Given the description of an element on the screen output the (x, y) to click on. 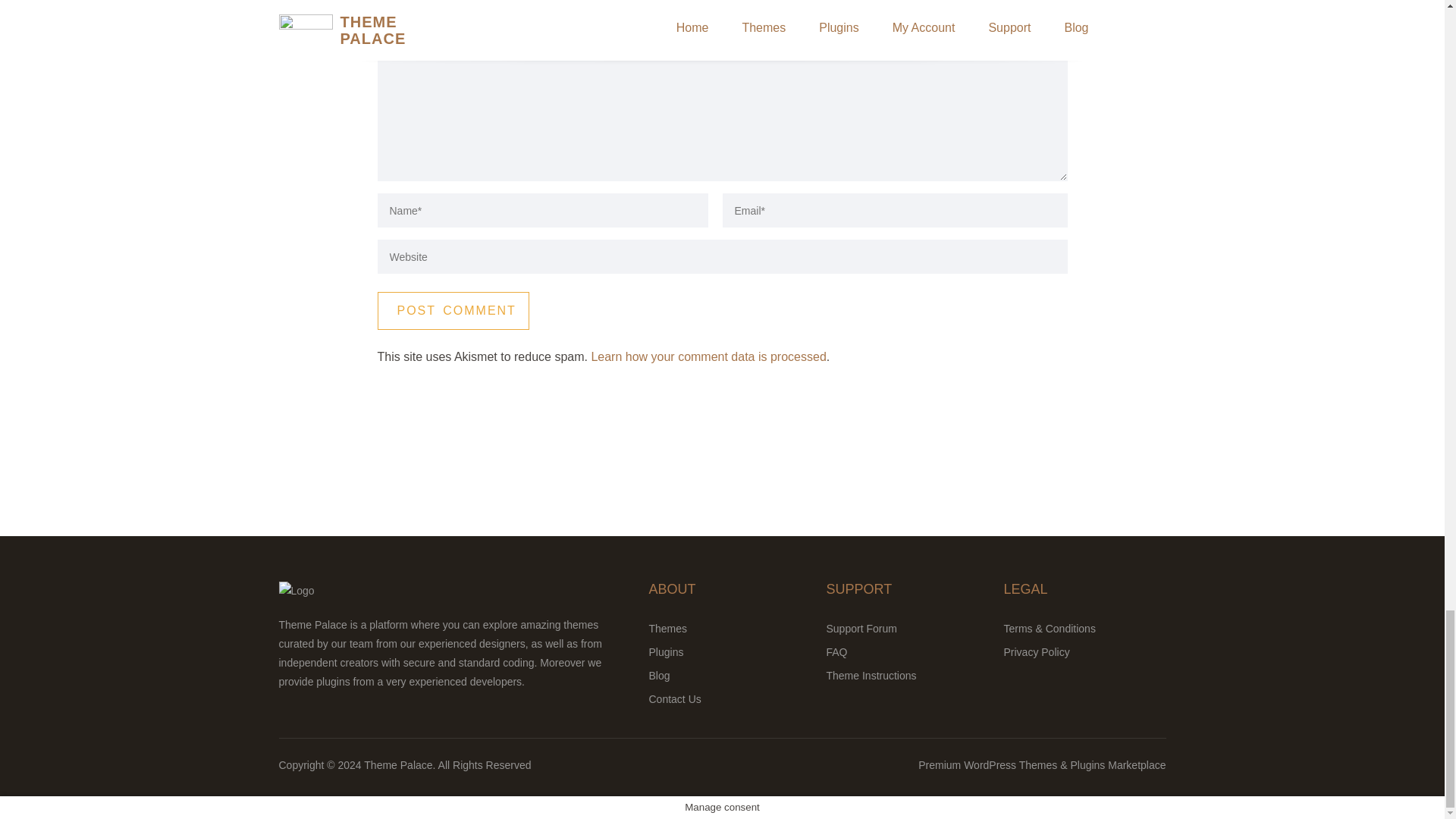
Plugins (666, 652)
Post Comment (453, 310)
Themes (668, 628)
Twitter (738, 774)
FAQ (837, 652)
Post Comment (453, 310)
Theme Instructions (872, 675)
Theme Palace. (401, 765)
Privacy Policy (1037, 652)
Support Forum (861, 628)
Facebook (705, 774)
Contact Us (675, 698)
Learn how your comment data is processed (708, 356)
Blog (659, 675)
